Given the description of an element on the screen output the (x, y) to click on. 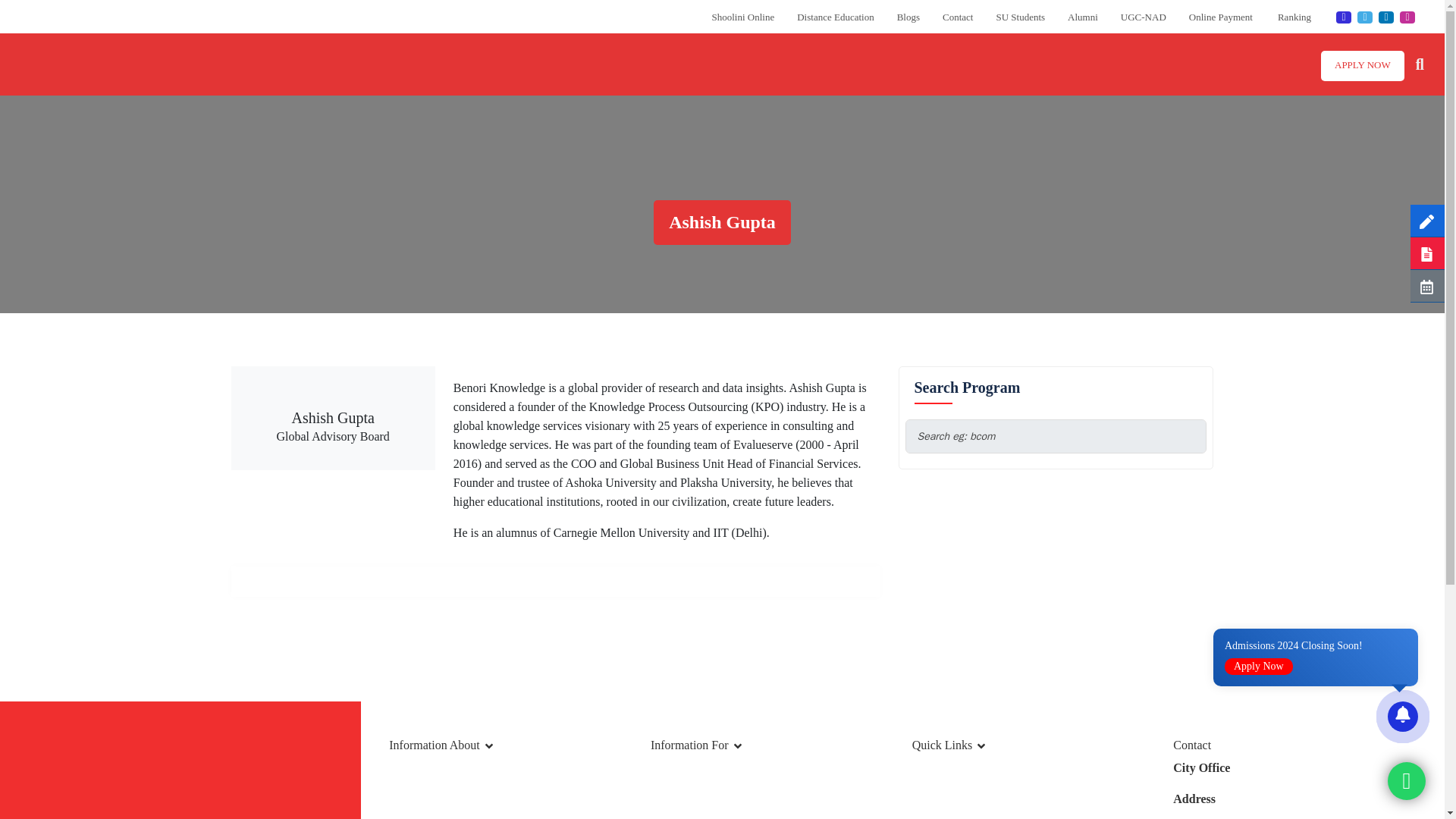
APPLY NOW (1362, 64)
Distance Education (834, 16)
Online Payment (1222, 16)
Contact (957, 16)
SU Students (1020, 16)
Shoolini Online (742, 16)
UGC-NAD (1143, 16)
Ranking (1295, 16)
Blogs (908, 16)
Apply Now (1258, 666)
